Given the description of an element on the screen output the (x, y) to click on. 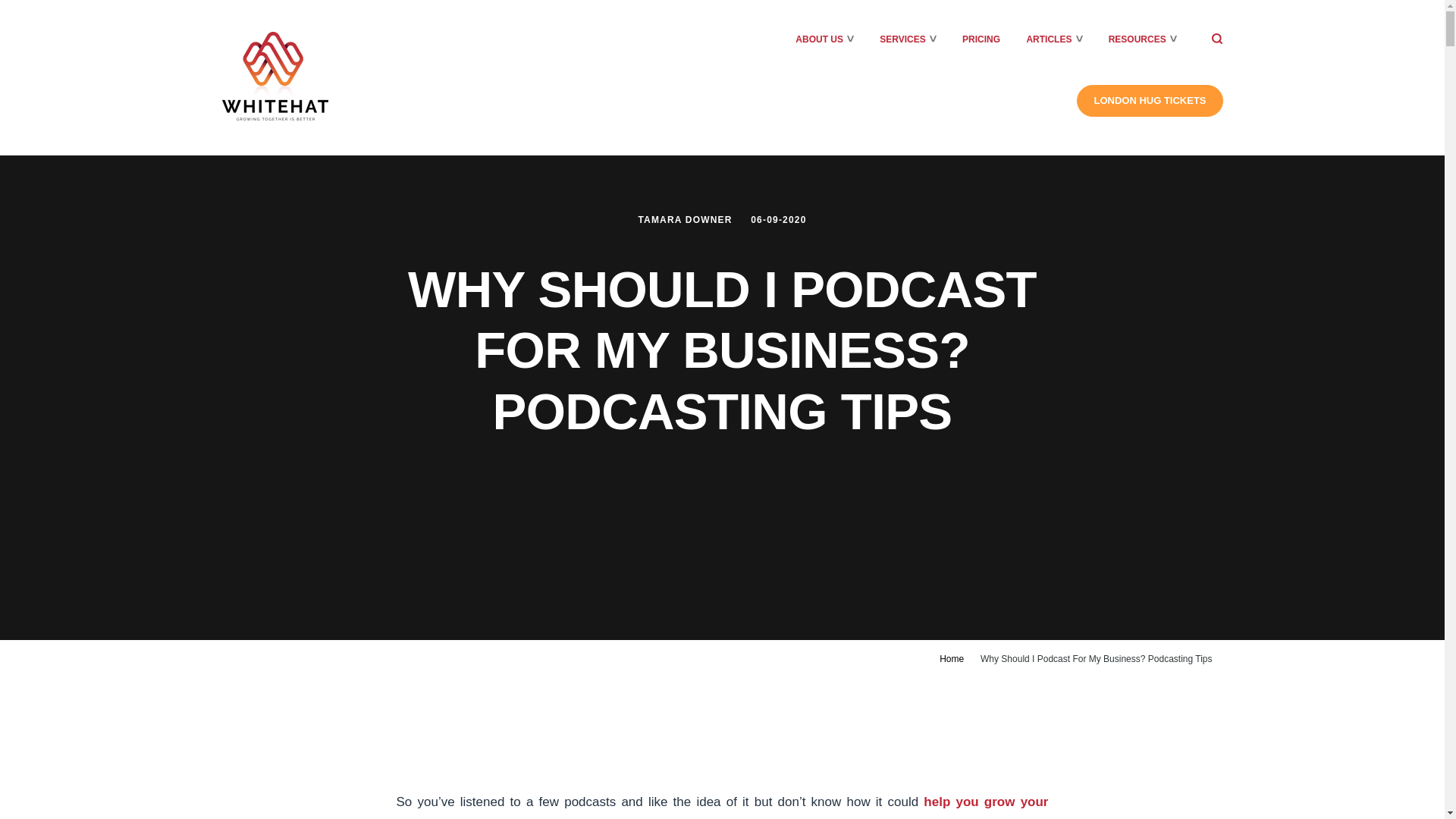
TAMARA DOWNER (686, 219)
LONDON HUG TICKETS (1150, 101)
ARTICLES (1048, 39)
PRICING (981, 39)
SERVICES (901, 39)
RESOURCES (1137, 39)
Home (951, 658)
whitehat (274, 75)
help you grow your business? (722, 806)
ABOUT US (818, 39)
